Given the description of an element on the screen output the (x, y) to click on. 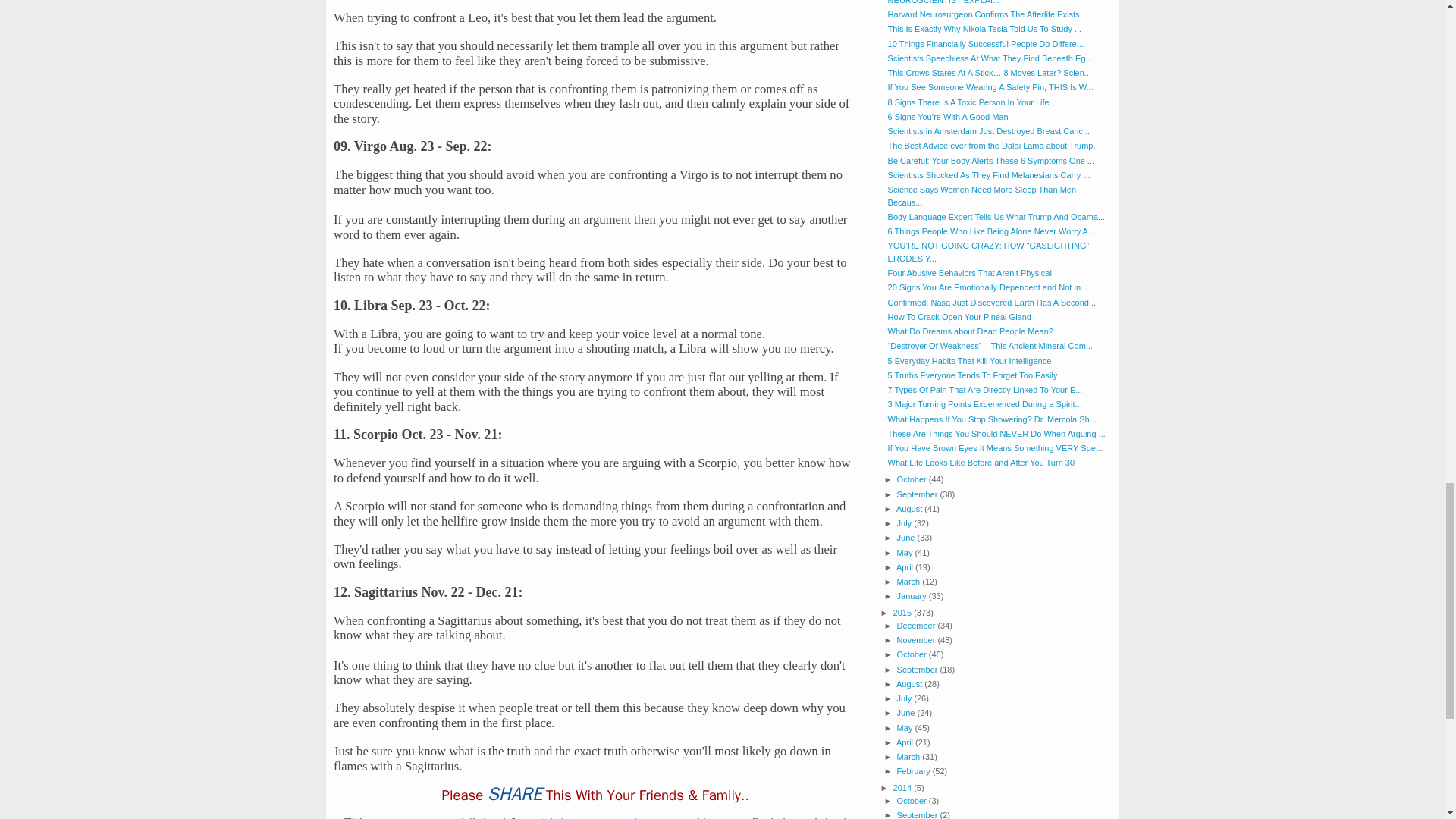
higherperspectives.com (614, 816)
